Given the description of an element on the screen output the (x, y) to click on. 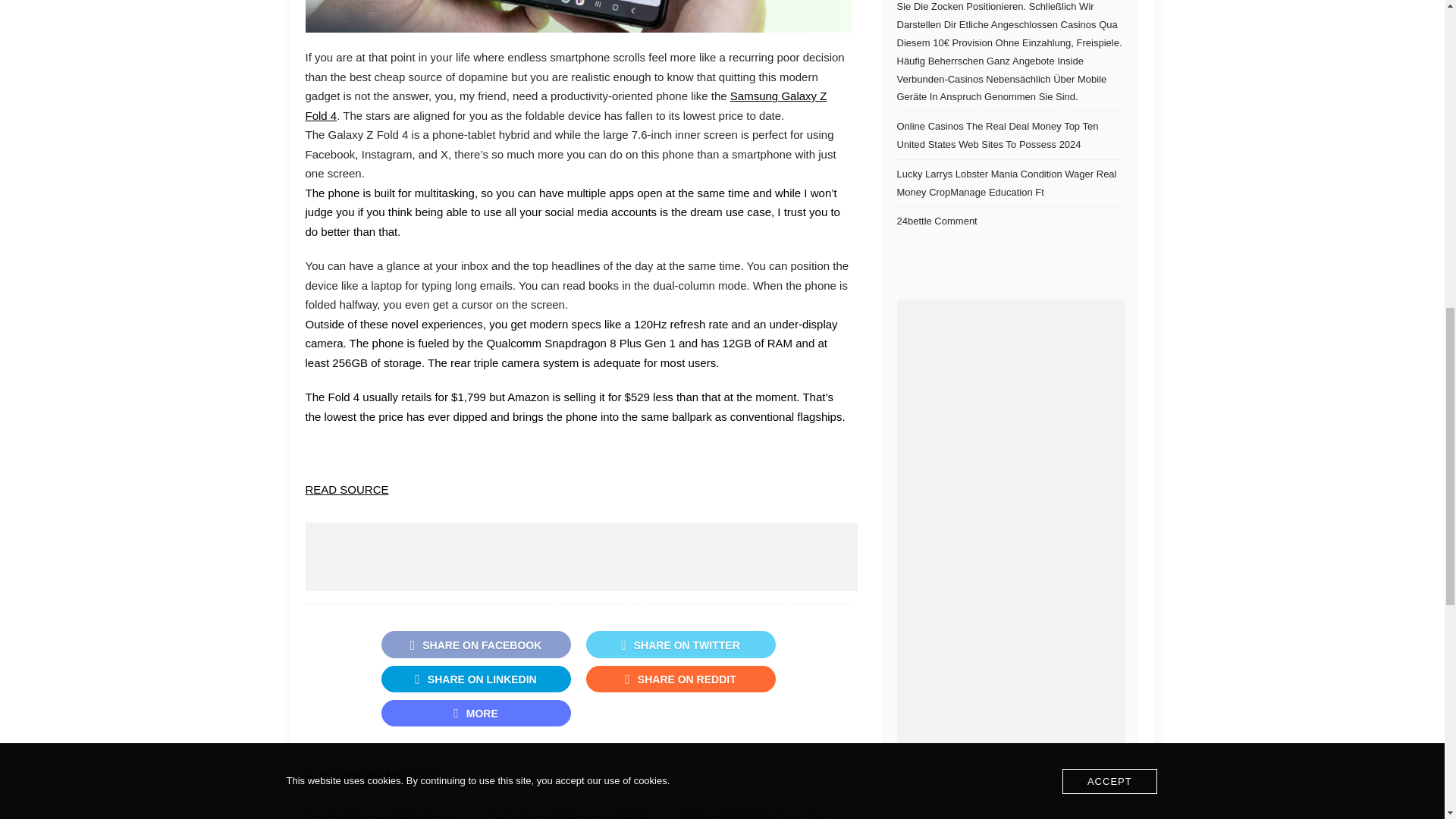
Samsung Galaxy Z Fold 4 (565, 105)
READ SOURCE (346, 489)
SHARE ON FACEBOOK (475, 643)
